Given the description of an element on the screen output the (x, y) to click on. 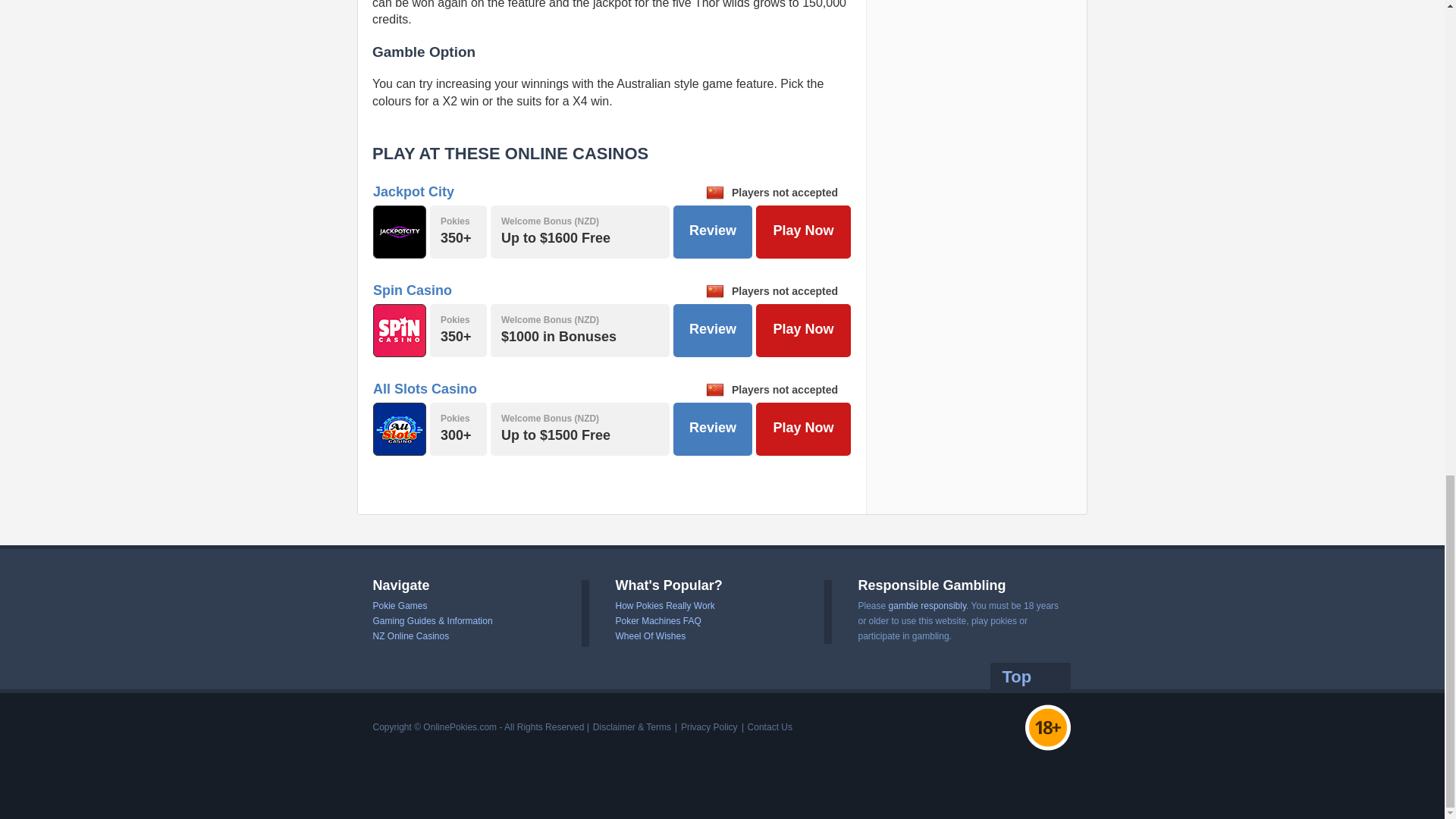
Play Now (802, 231)
Review (712, 330)
Jackpot City (413, 191)
All Slots Casino (424, 388)
Spin Casino (411, 290)
Play Now (802, 428)
Review (712, 231)
Play Now (802, 330)
Review (712, 428)
